Given the description of an element on the screen output the (x, y) to click on. 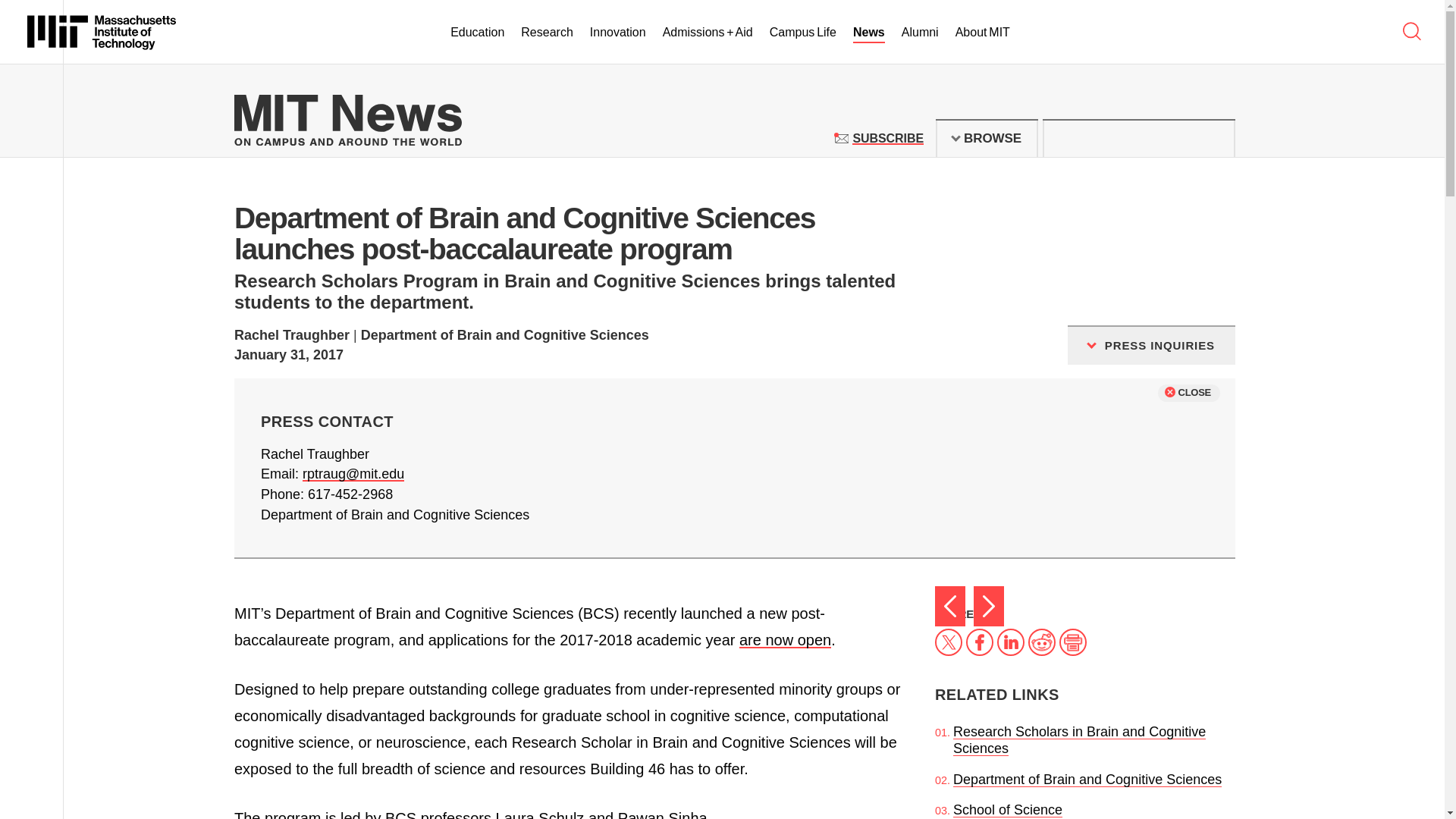
Submit (1214, 138)
BROWSE (887, 137)
Campus Life (987, 138)
Massachusetts Institute of Technology (802, 32)
